Given the description of an element on the screen output the (x, y) to click on. 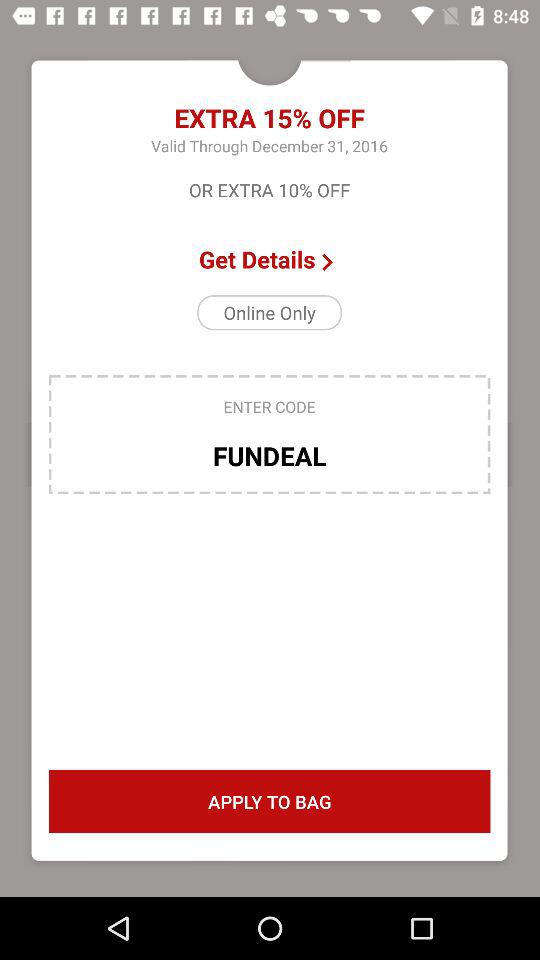
press the apply to bag (269, 801)
